Given the description of an element on the screen output the (x, y) to click on. 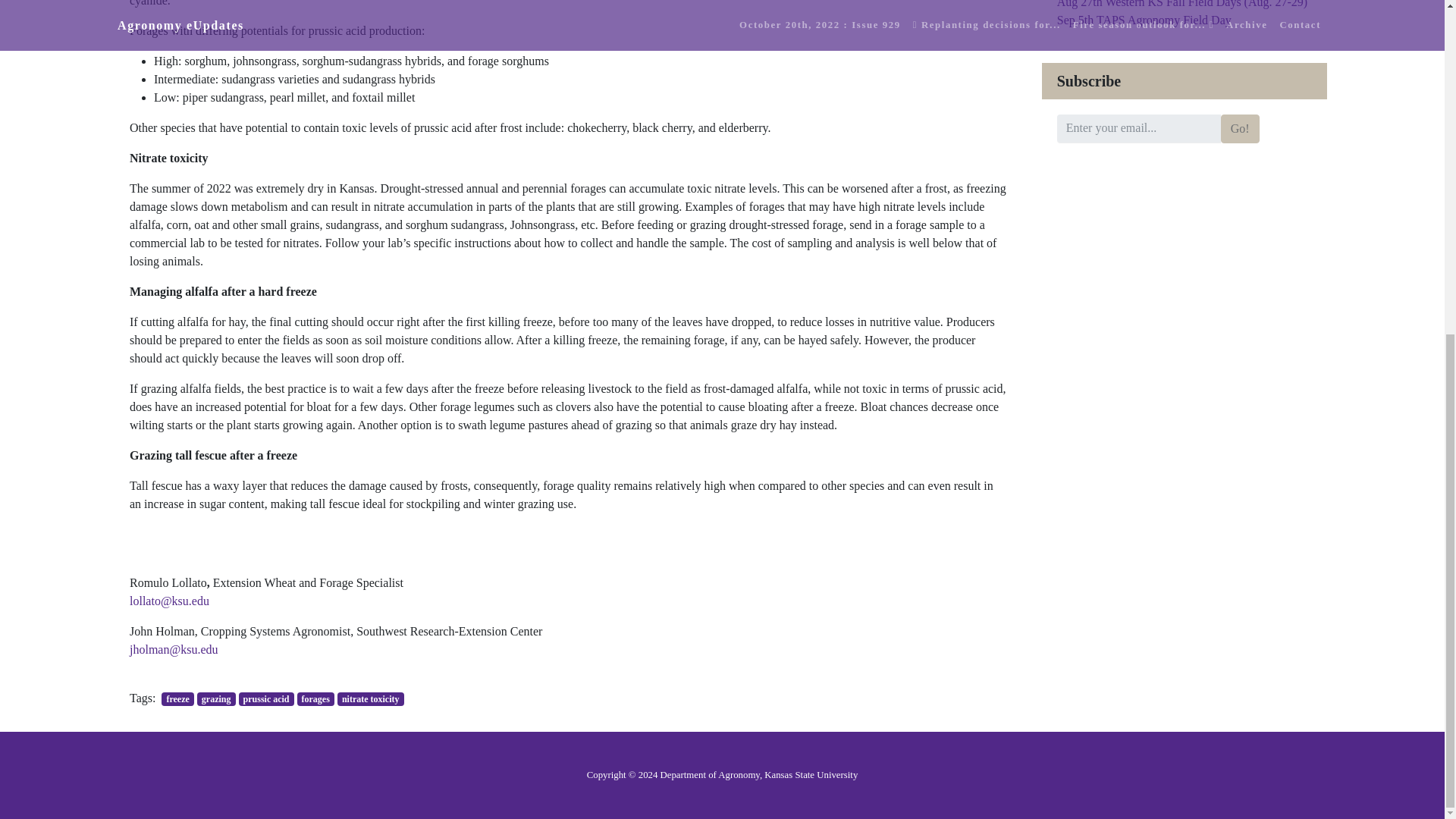
nitrate toxicity (370, 698)
grazing (215, 698)
Sep 5th TAPS Agronomy Field Day (1144, 19)
forages (315, 698)
freeze (177, 698)
prussic acid (266, 698)
Go! (1240, 128)
